Given the description of an element on the screen output the (x, y) to click on. 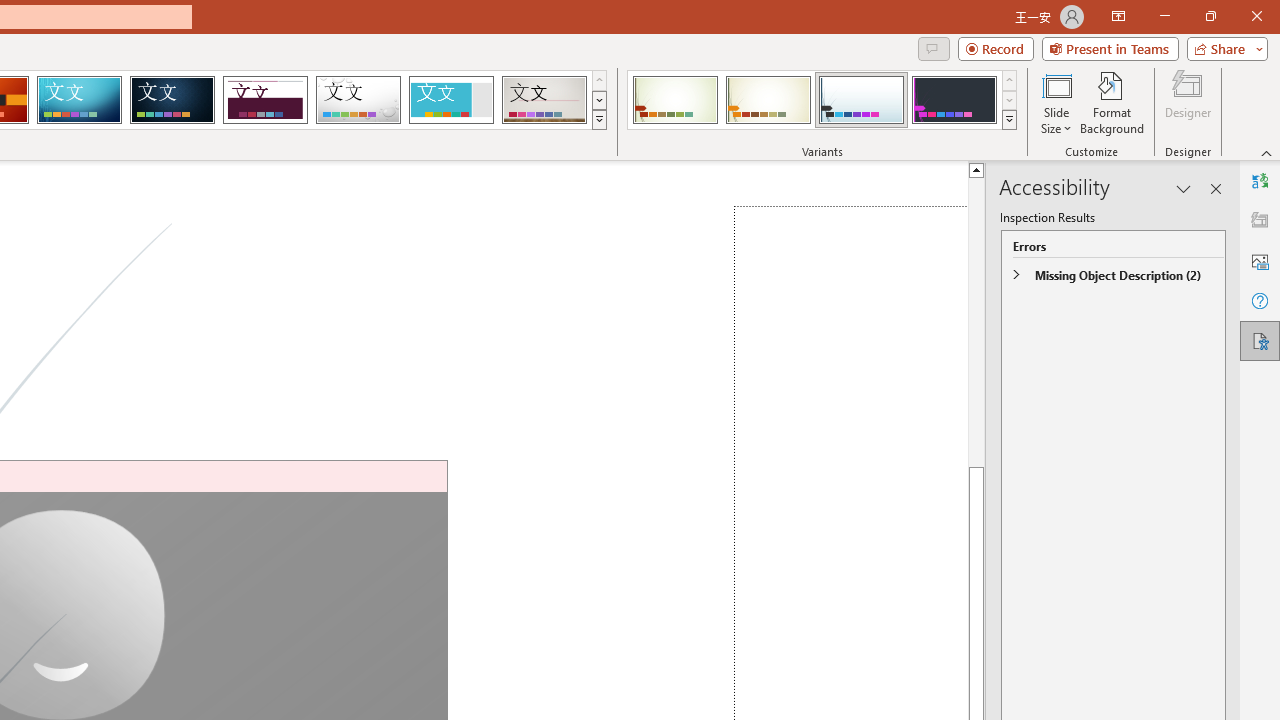
Wisp Variant 2 (768, 100)
Variants (1009, 120)
Format Background (1111, 102)
AutomationID: ThemeVariantsGallery (822, 99)
Wisp Variant 4 (953, 100)
Circuit (79, 100)
